Given the description of an element on the screen output the (x, y) to click on. 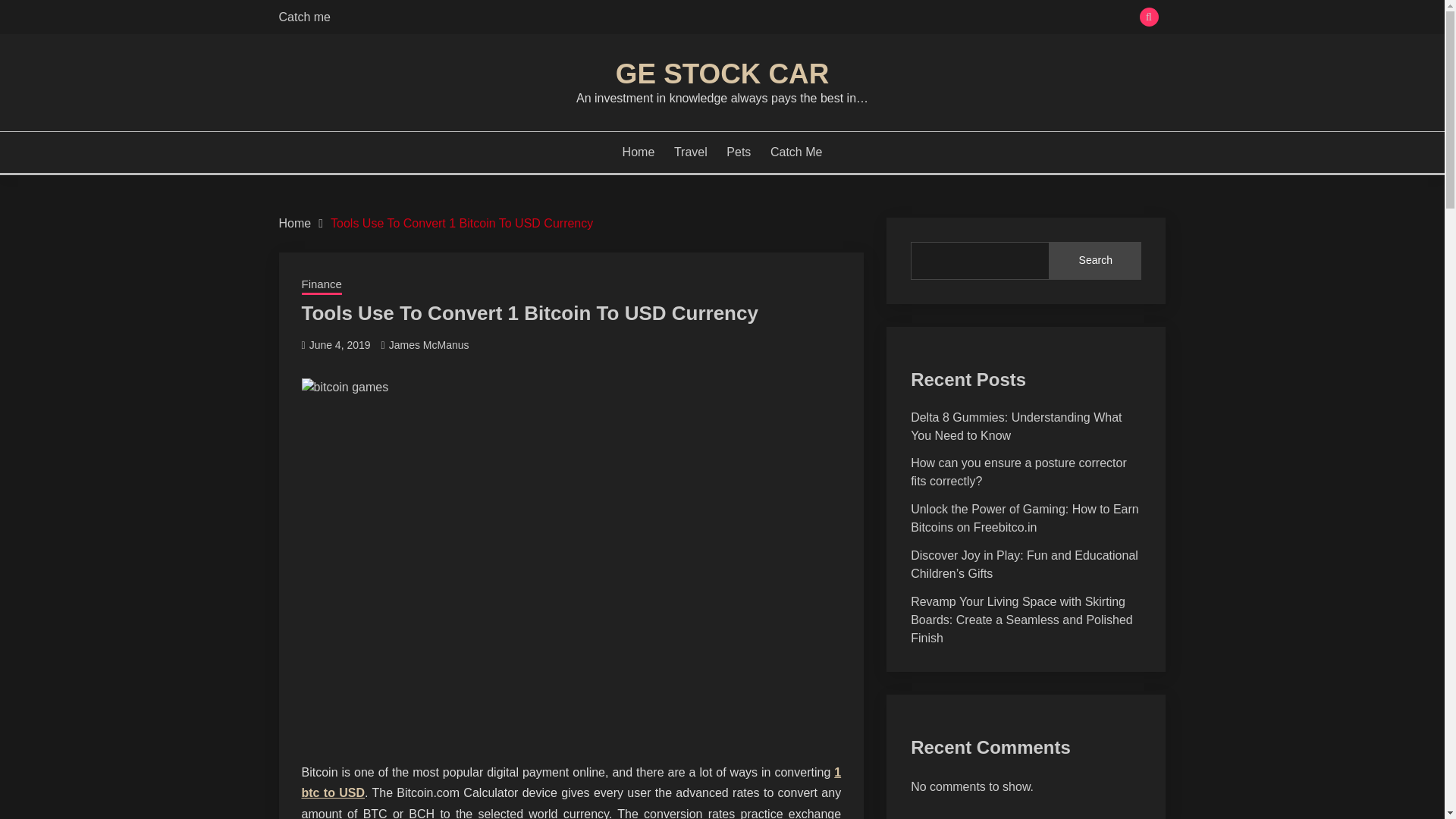
Travel (690, 152)
GE STOCK CAR (721, 73)
Catch Me (796, 152)
James McManus (428, 345)
Search (832, 18)
How can you ensure a posture corrector fits correctly? (1018, 471)
Delta 8 Gummies: Understanding What You Need to Know (1016, 426)
Pets (738, 152)
Home (639, 152)
